Given the description of an element on the screen output the (x, y) to click on. 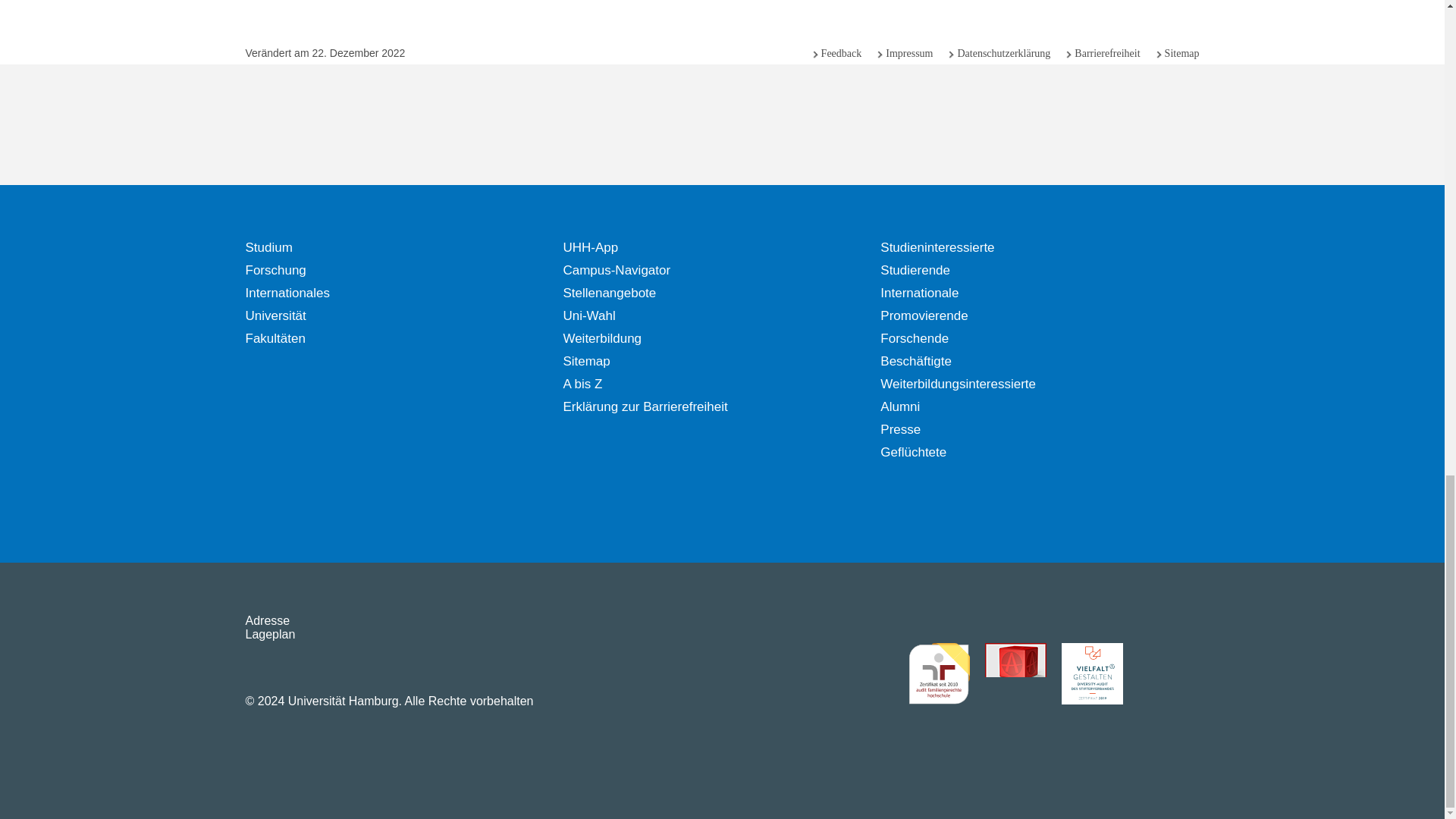
Zur Seite Diversity-Audit (1091, 673)
Zur Seite Systemakkreditierung (1167, 673)
Zur Seite Audit Internationalisierung (1014, 673)
Zur Seite Audit familiengerechte Hochschule (938, 673)
